Given the description of an element on the screen output the (x, y) to click on. 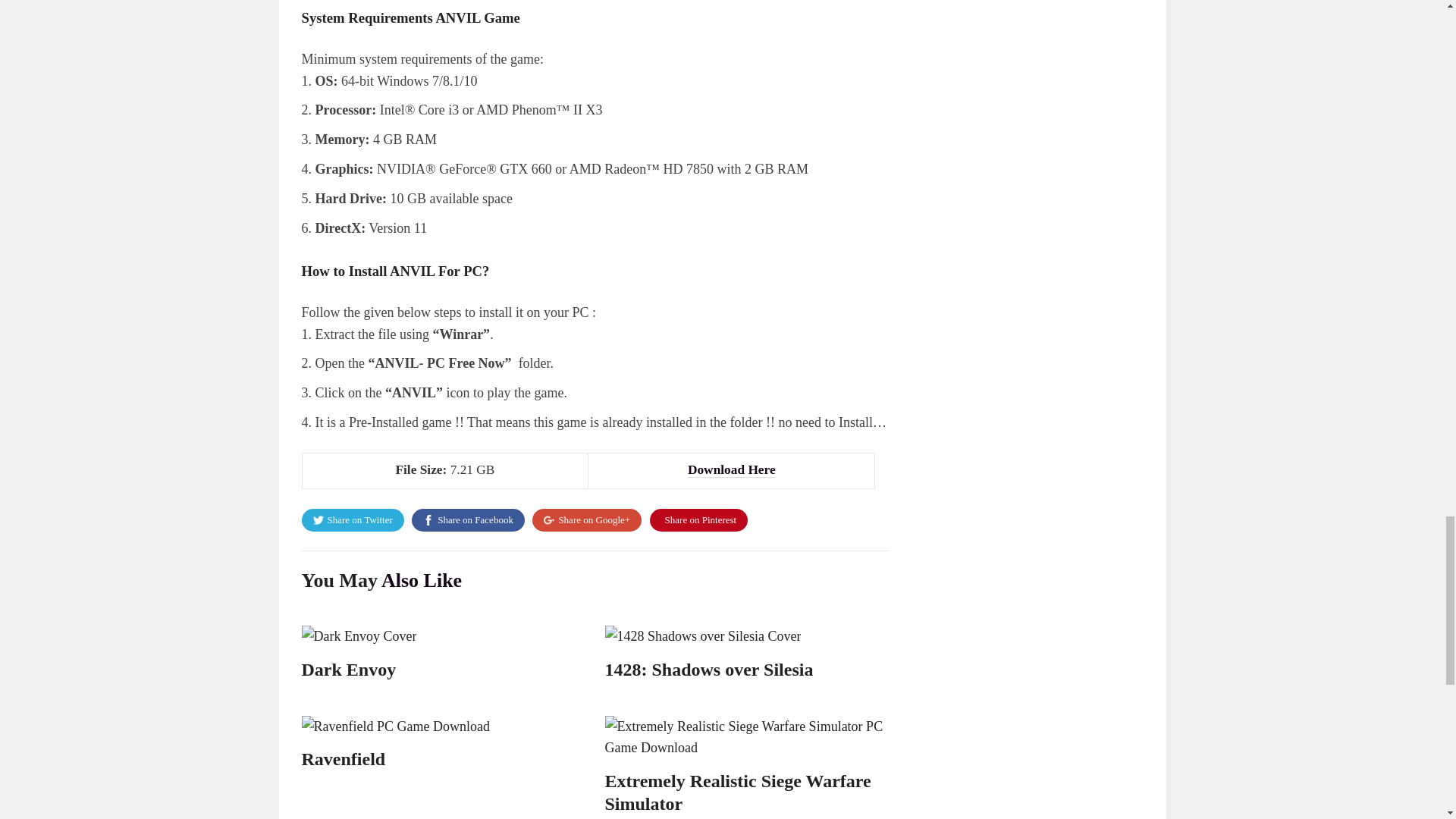
Share on Pinterest (698, 519)
1428: Shadows over Silesia (709, 669)
Extremely Realistic Siege Warfare Simulator (737, 792)
Ravenfield (343, 759)
Download Here (731, 469)
Share on Twitter (352, 519)
Share on Facebook (468, 519)
Dark Envoy (348, 669)
